Given the description of an element on the screen output the (x, y) to click on. 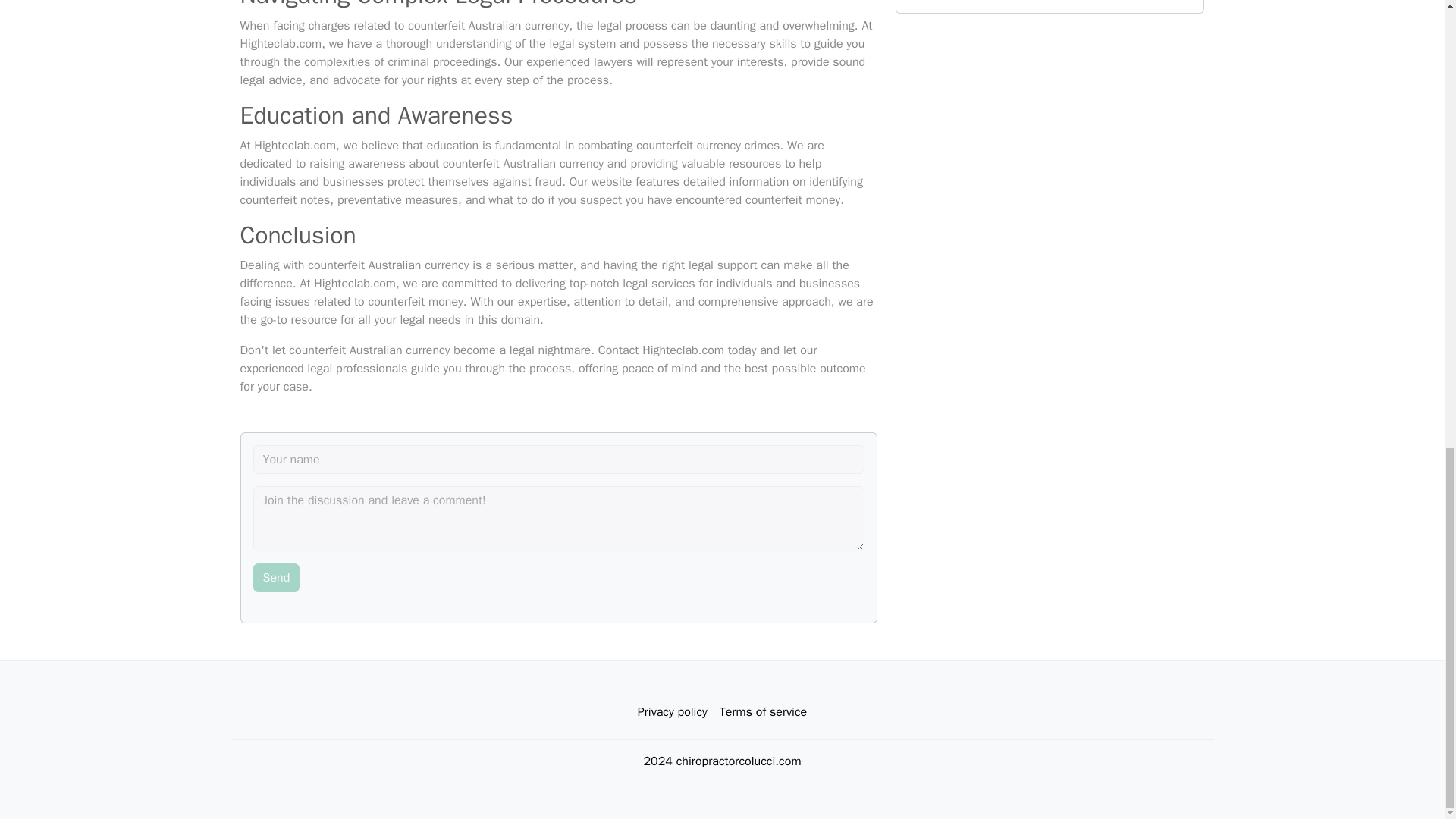
Terms of service (762, 711)
Privacy policy (672, 711)
Send (276, 577)
Send (276, 577)
